Given the description of an element on the screen output the (x, y) to click on. 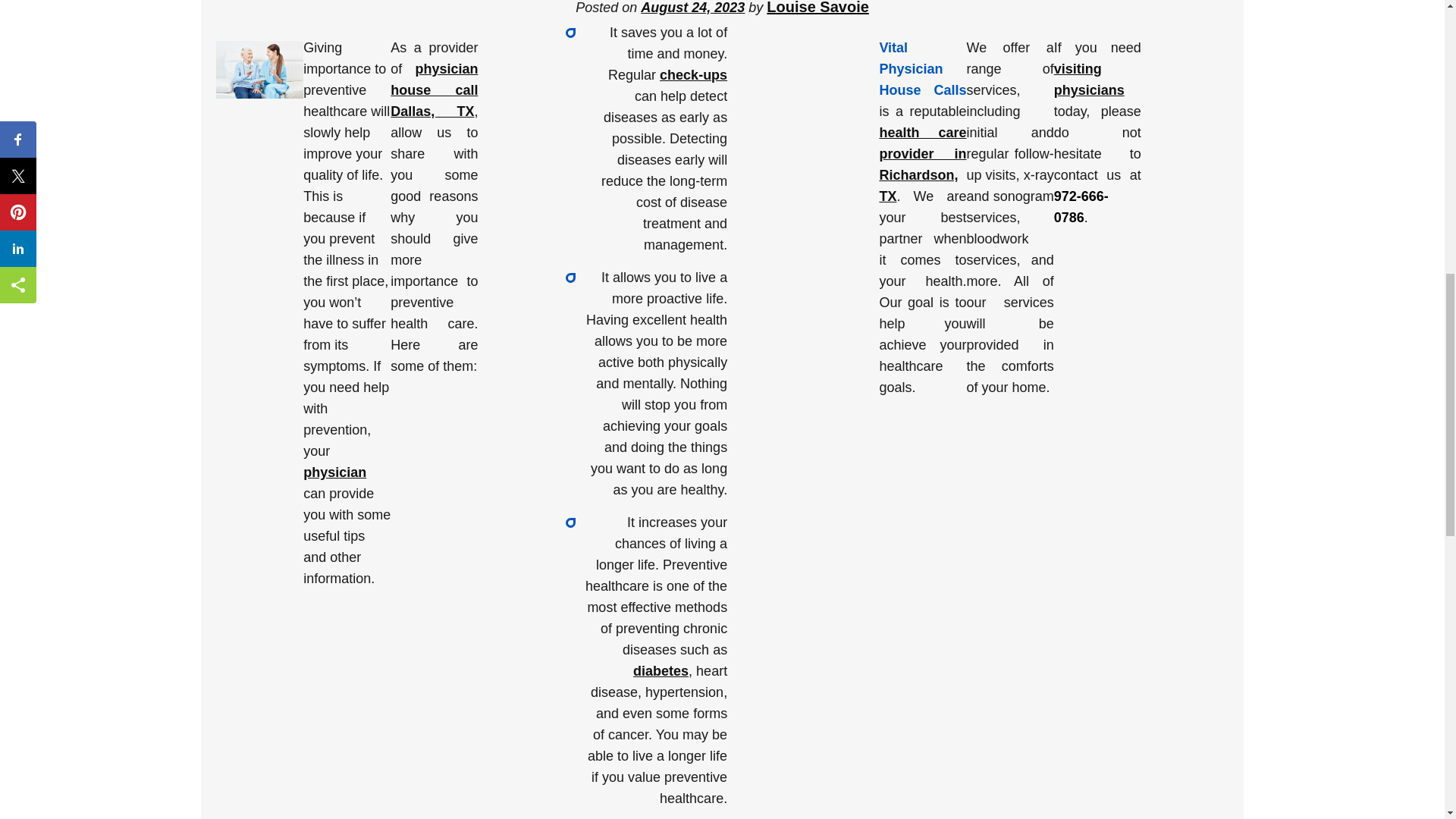
physician house call Dallas, TX (433, 89)
visiting physicians (1089, 79)
August 24, 2023 (692, 7)
diabetes (660, 670)
12:00 am (692, 7)
972-666-0786 (1081, 207)
health care provider in Richardson, TX (922, 164)
check-ups (692, 74)
View all posts by Louise Savoie (818, 7)
Louise Savoie (818, 7)
physician (334, 472)
